Given the description of an element on the screen output the (x, y) to click on. 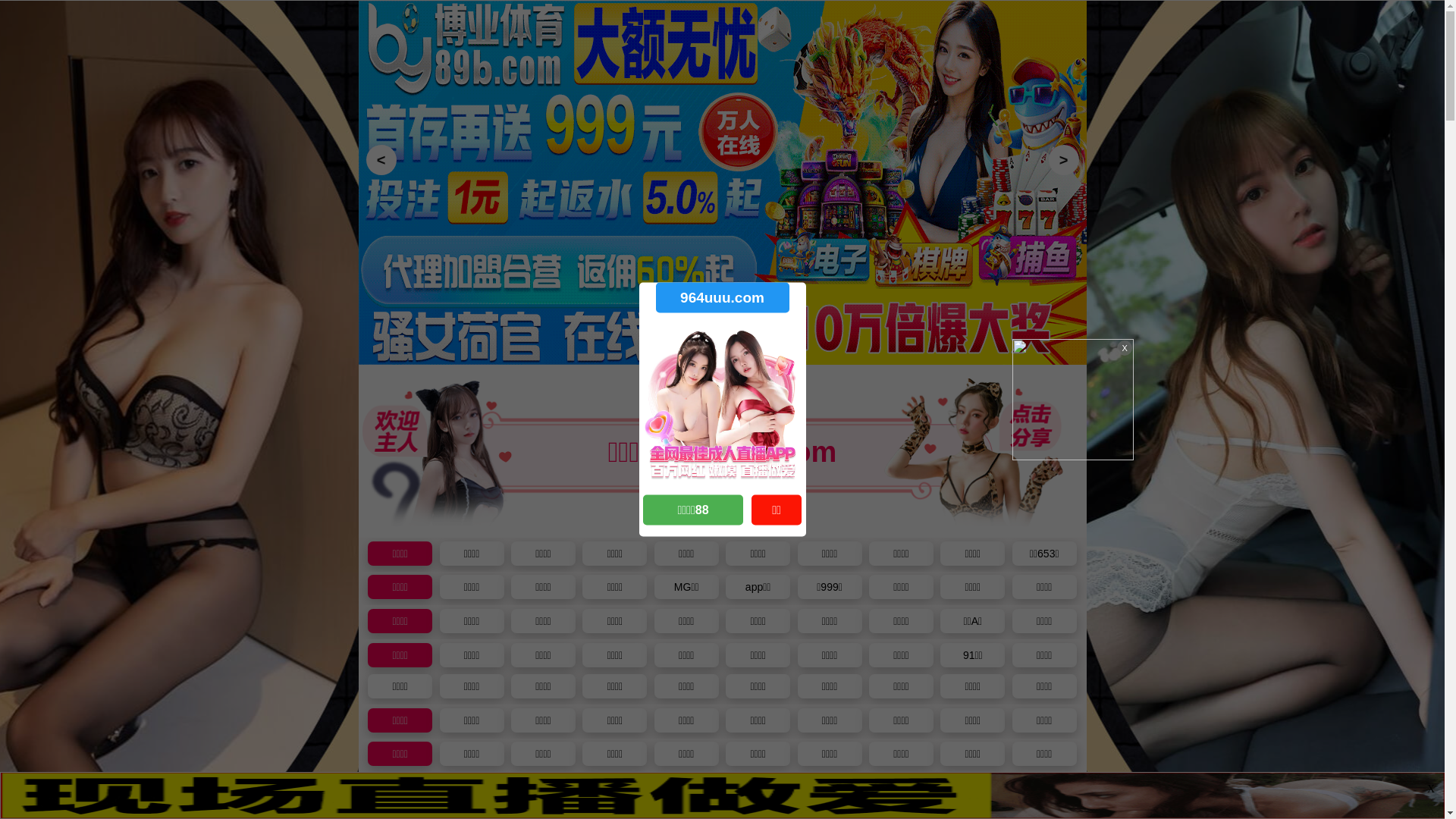
> Element type: text (1063, 159)
964uuu.com Element type: text (721, 297)
X Element type: text (1430, 789)
< Element type: text (380, 159)
